Given the description of an element on the screen output the (x, y) to click on. 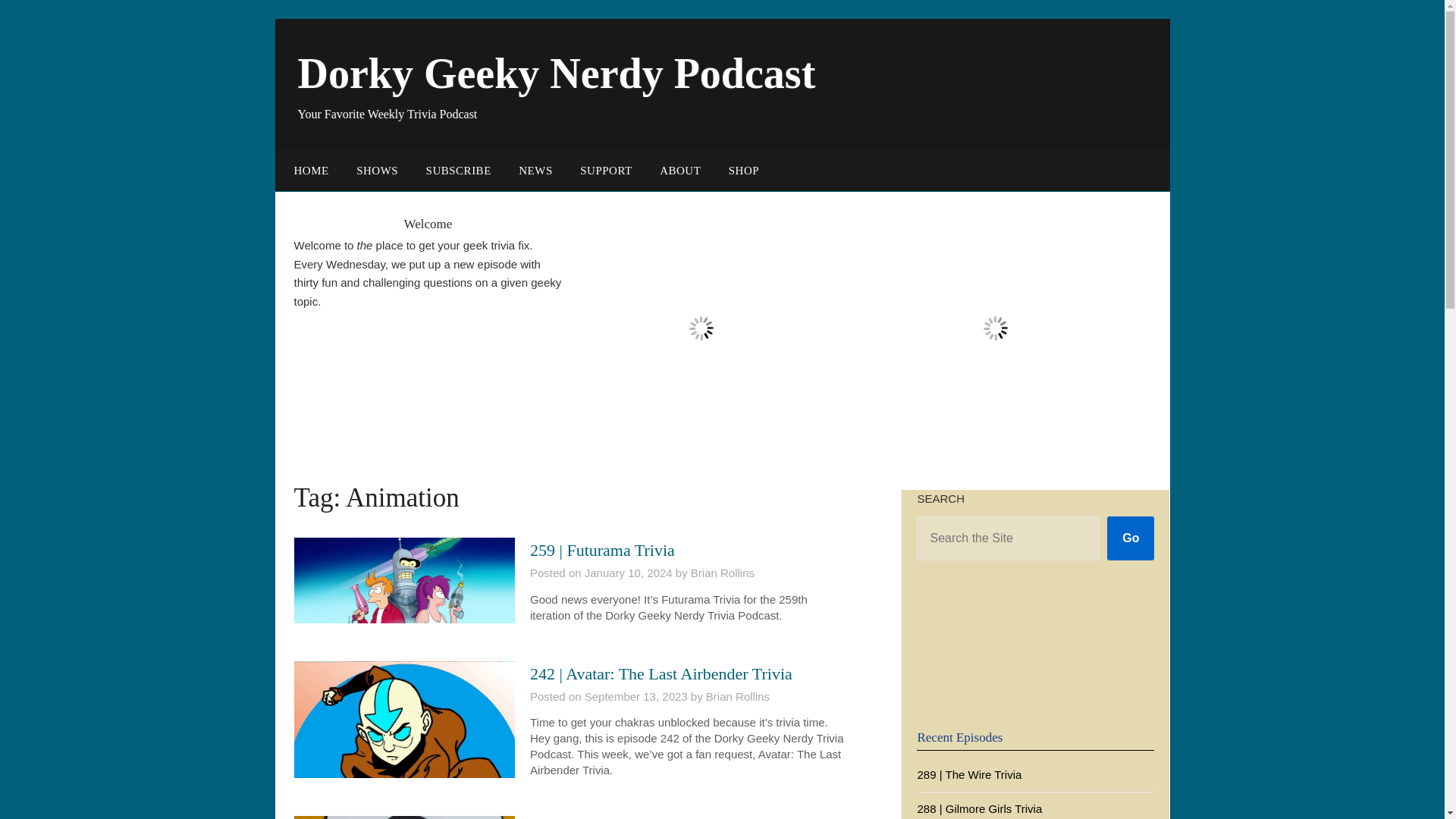
HOME (307, 169)
Brian Rollins (722, 572)
Dorky Geeky Nerdy Podcast (556, 73)
SHOWS (376, 169)
ABOUT (680, 169)
September 13, 2023 (636, 696)
SUPPORT (605, 169)
January 10, 2024 (628, 572)
SUBSCRIBE (458, 169)
SHOP (743, 169)
